Given the description of an element on the screen output the (x, y) to click on. 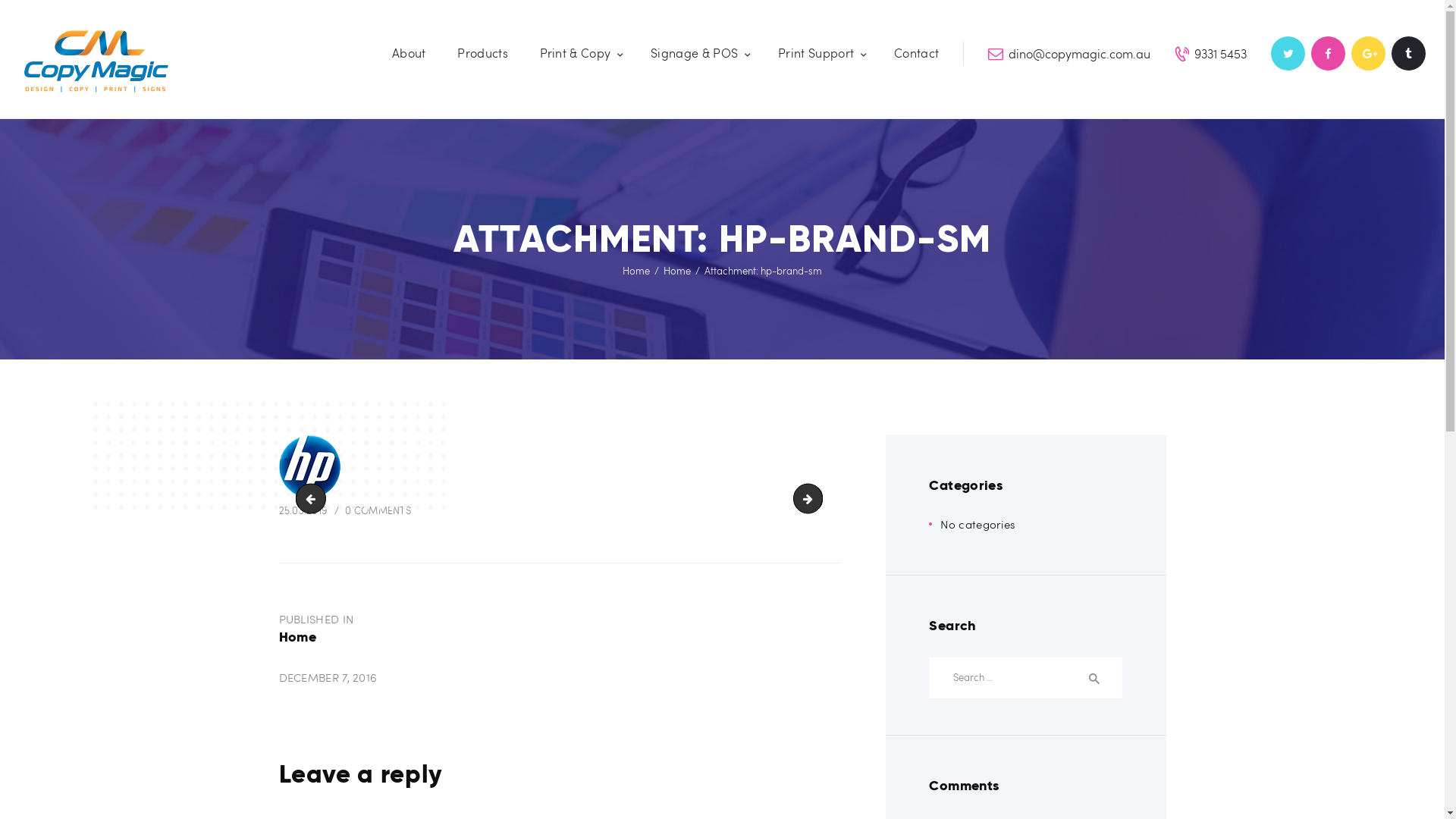
9331 5453 Element type: text (1210, 53)
Signage & POS Element type: text (698, 52)
Home Element type: text (676, 270)
Print Support Element type: text (820, 52)
dino@copymagic.com.au Element type: text (1068, 53)
Home Element type: text (635, 270)
Print & Copy Element type: text (579, 52)
Contact Element type: text (916, 52)
Search Element type: text (1099, 678)
25.03.2019 Element type: text (303, 510)
PUBLISHED IN
PREVIOUS POST:
Home
DECEMBER 7, 2016 Element type: text (559, 647)
bizhub-brand-sm Element type: text (307, 498)
Products Element type: text (483, 52)
konica-brand-sm Element type: text (810, 498)
0COMMENTS Element type: text (370, 510)
About Element type: text (408, 52)
